Given the description of an element on the screen output the (x, y) to click on. 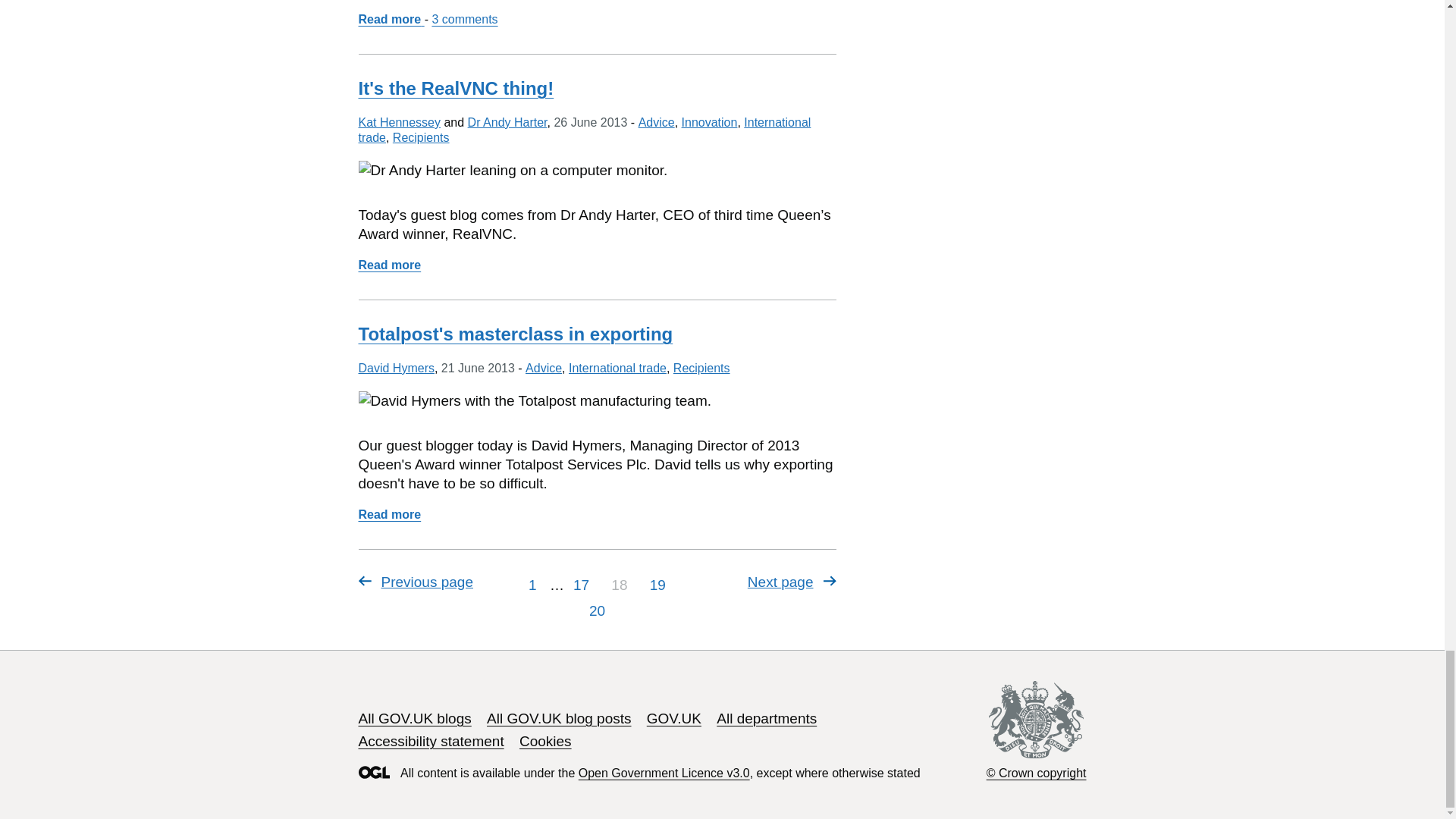
Posts by Dr Andy Harter (507, 122)
Posts by Kat Hennessey (399, 122)
Posts by David Hymers (395, 367)
